Given the description of an element on the screen output the (x, y) to click on. 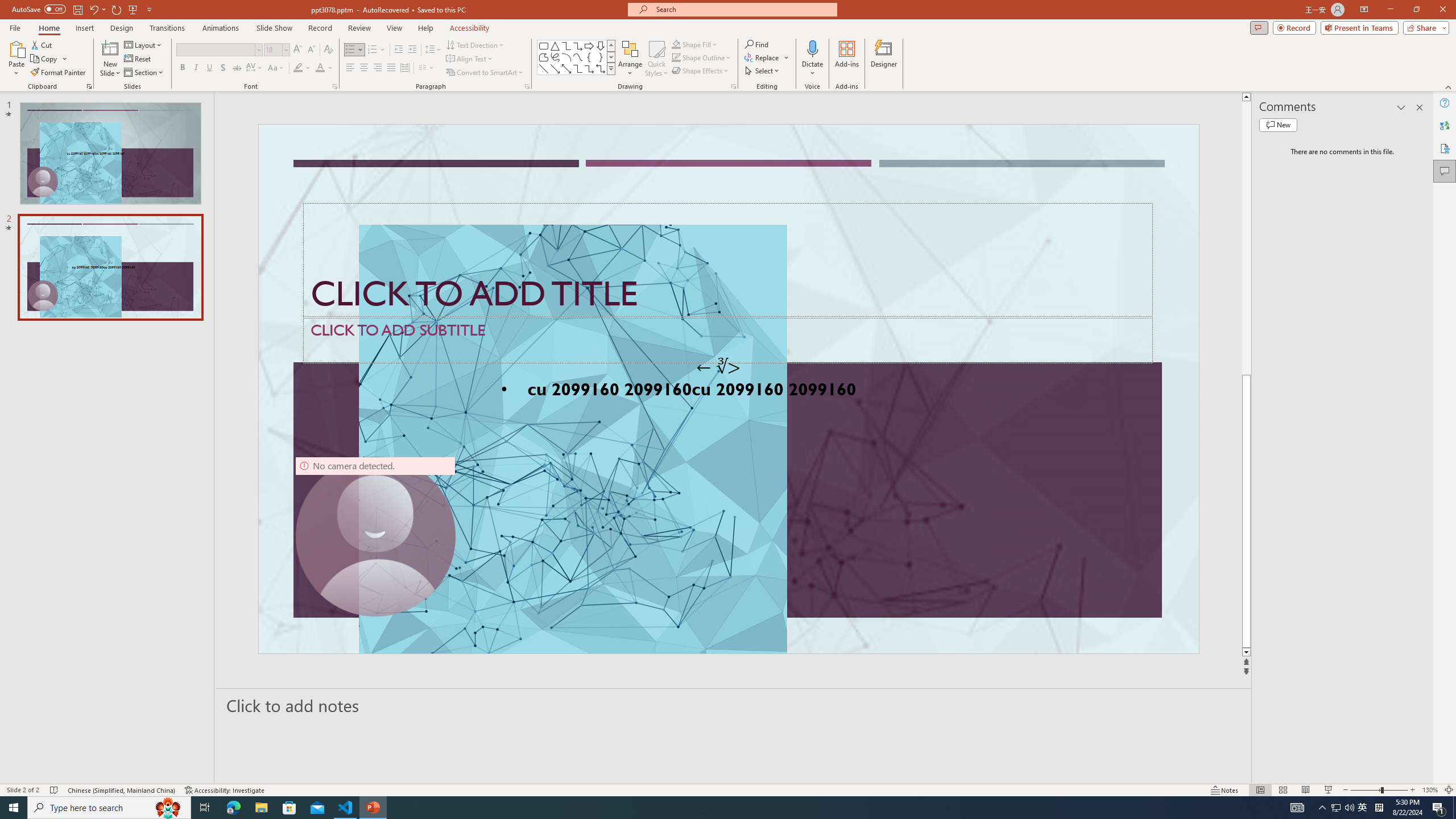
Customize Quick Access Toolbar (149, 9)
Text Highlight Color Yellow (297, 67)
Change Case (276, 67)
Zoom to Fit  (1449, 790)
Row Down (611, 56)
Shape Outline Green, Accent 1 (675, 56)
Curve (577, 57)
Spell Check No Errors (54, 790)
Transitions (167, 28)
View (395, 28)
Font Size (273, 49)
Decrease Indent (398, 49)
Close (1442, 9)
Slide Sorter (1282, 790)
Isosceles Triangle (554, 45)
